Given the description of an element on the screen output the (x, y) to click on. 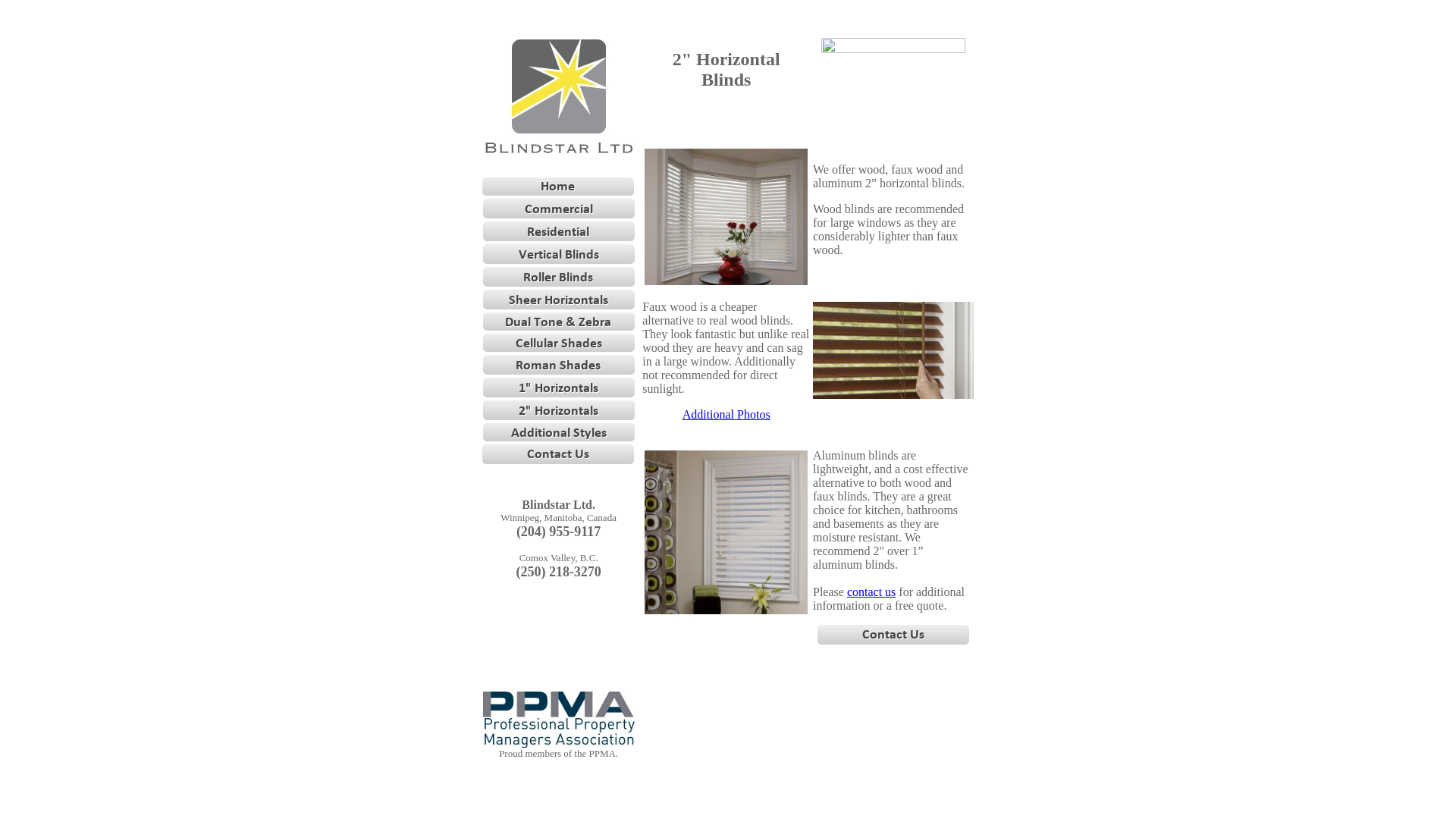
contact us Element type: text (871, 591)
Additional Photos Element type: text (726, 413)
